Given the description of an element on the screen output the (x, y) to click on. 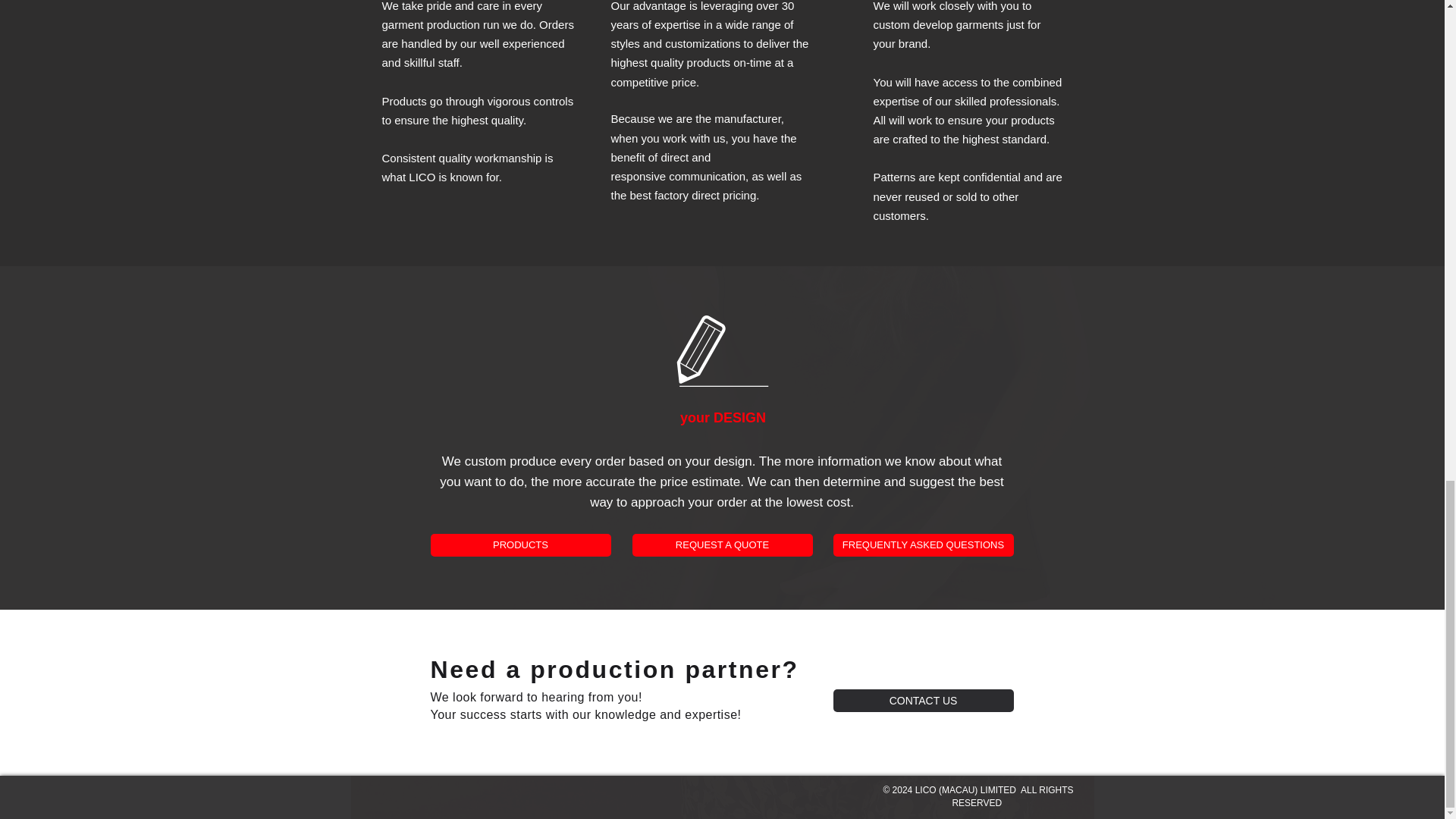
CONTACT US (922, 700)
FREQUENTLY ASKED QUESTIONS (922, 544)
REQUEST A QUOTE (721, 544)
PRODUCTS (520, 544)
